Given the description of an element on the screen output the (x, y) to click on. 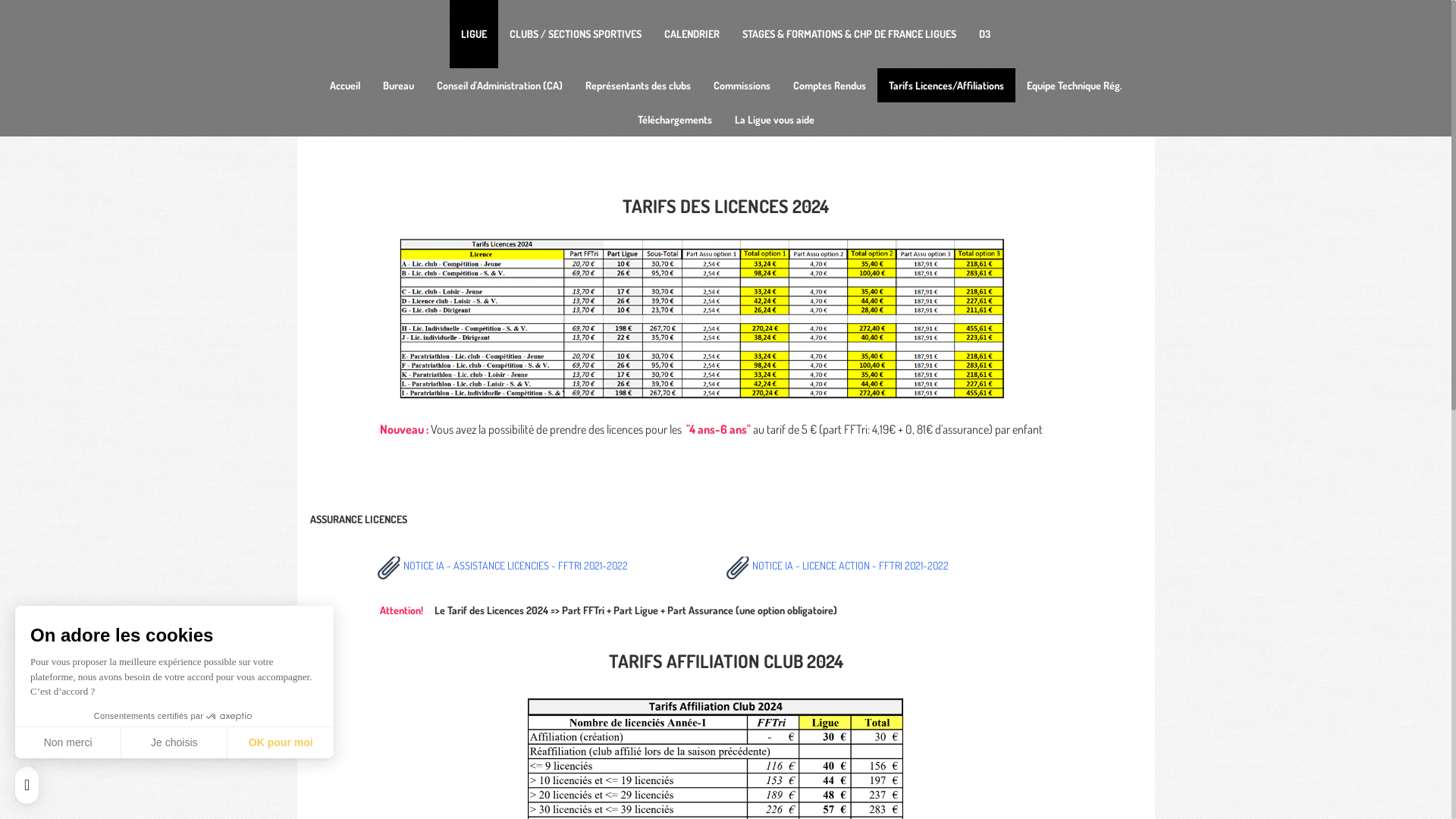
D3 Element type: text (984, 34)
Conseil d'Administration (CA) Element type: text (498, 84)
NOTICE IA - ASSISTANCE LICENCIES - FFTRI 2021-2022 Element type: text (515, 567)
Non merci Element type: text (68, 742)
Tarifs Licences/Affiliations Element type: text (945, 84)
CALENDRIER Element type: text (691, 34)
Je choisis Element type: text (174, 742)
CLUBS / SECTIONS SPORTIVES Element type: text (575, 34)
OK pour moi Element type: text (280, 742)
STAGES & FORMATIONS & CHP DE FRANCE LIGUES Element type: text (849, 34)
Commissions Element type: text (741, 84)
Comptes Rendus Element type: text (828, 84)
LIGUE Element type: text (473, 34)
NOTICE IA - LICENCE ACTION - FFTRI 2021-2022 Element type: text (864, 567)
Bureau Element type: text (398, 84)
Accueil Element type: text (344, 84)
La Ligue vous aide Element type: text (774, 118)
